Given the description of an element on the screen output the (x, y) to click on. 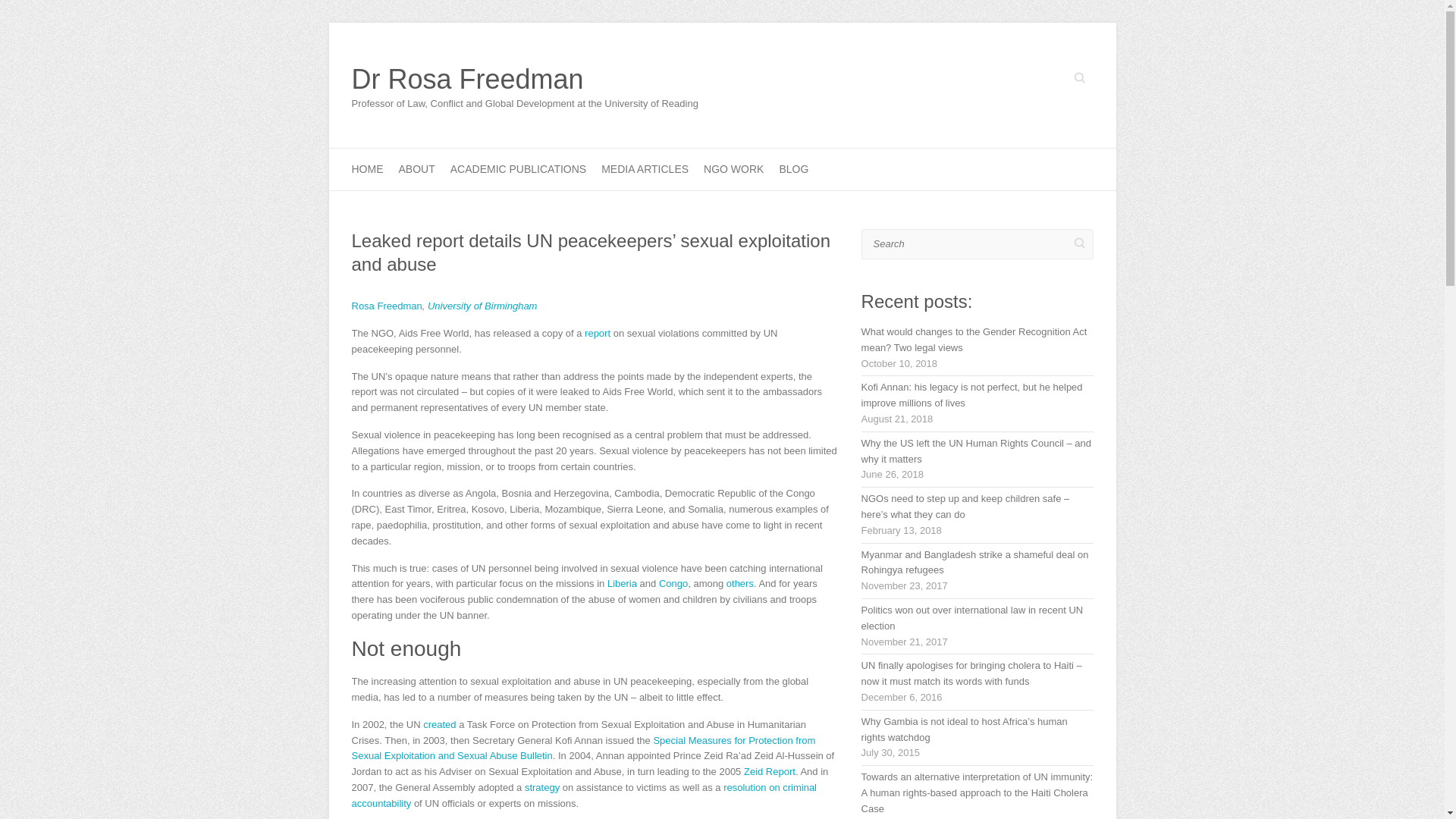
MEDIA ARTICLES (644, 169)
others (740, 583)
Dr Rosa Freedman (525, 79)
resolution on criminal accountability (584, 795)
NGO WORK (732, 169)
report (597, 333)
Rosa Freedman (387, 306)
Liberia (622, 583)
